Given the description of an element on the screen output the (x, y) to click on. 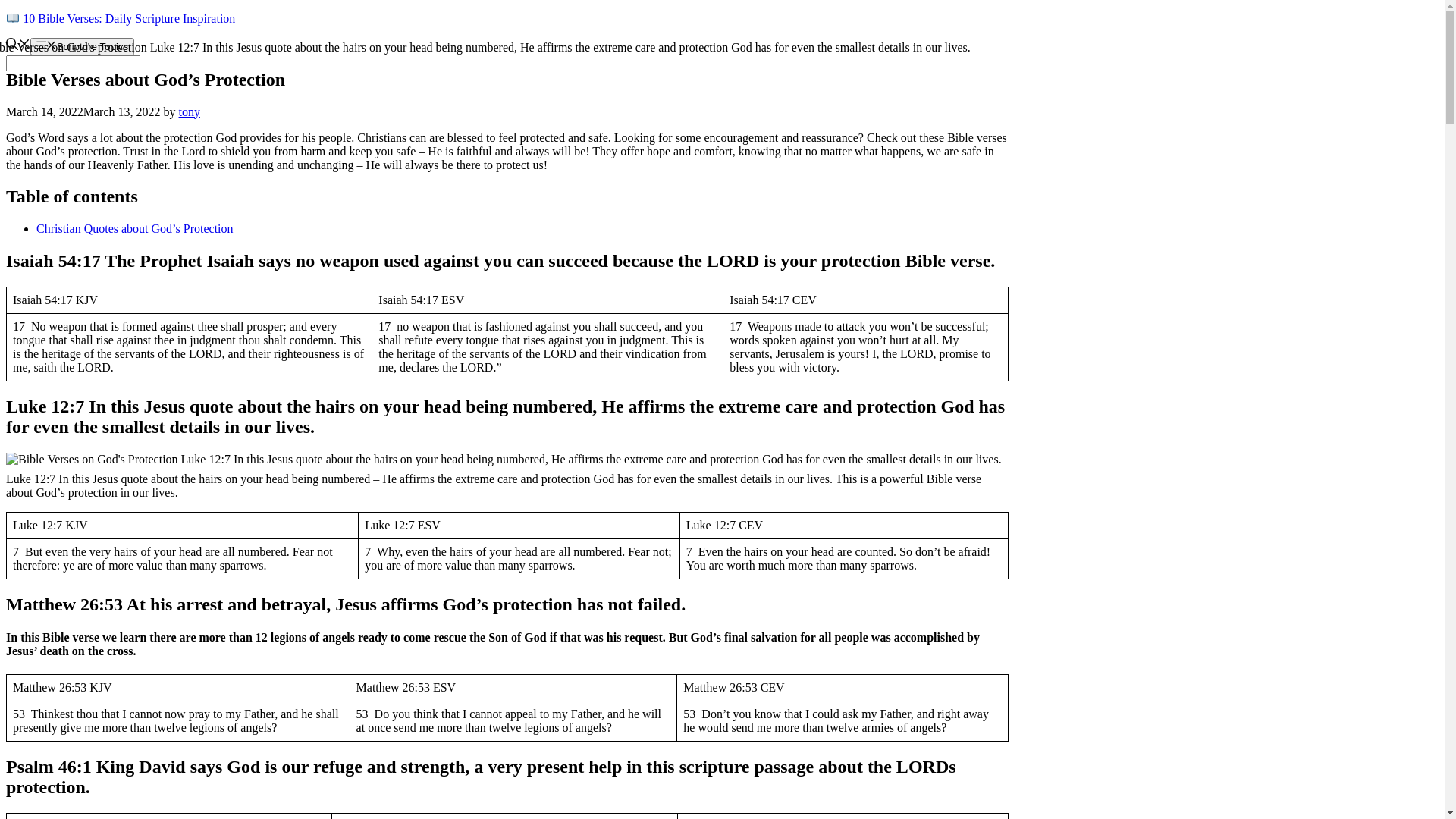
Scripture Topics Element type: text (82, 45)
tony Element type: text (189, 111)
10 Bible Verses: Daily Scripture Inspiration Element type: text (120, 18)
Search Element type: hover (73, 63)
Skip to content Element type: text (5, 11)
